Given the description of an element on the screen output the (x, y) to click on. 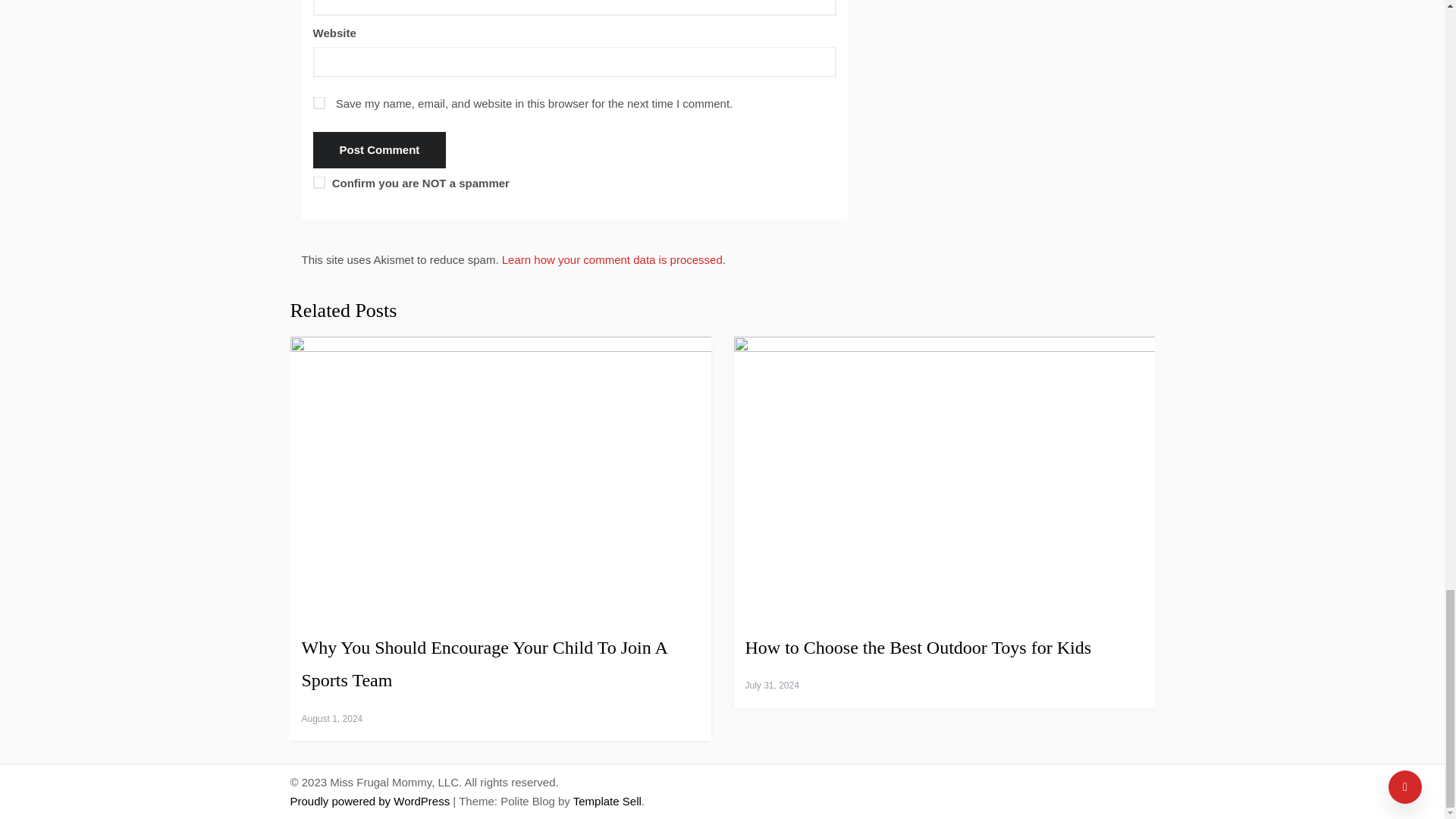
Post Comment (379, 149)
Post Comment (379, 149)
yes (318, 102)
on (318, 182)
Learn how your comment data is processed (612, 259)
